Given the description of an element on the screen output the (x, y) to click on. 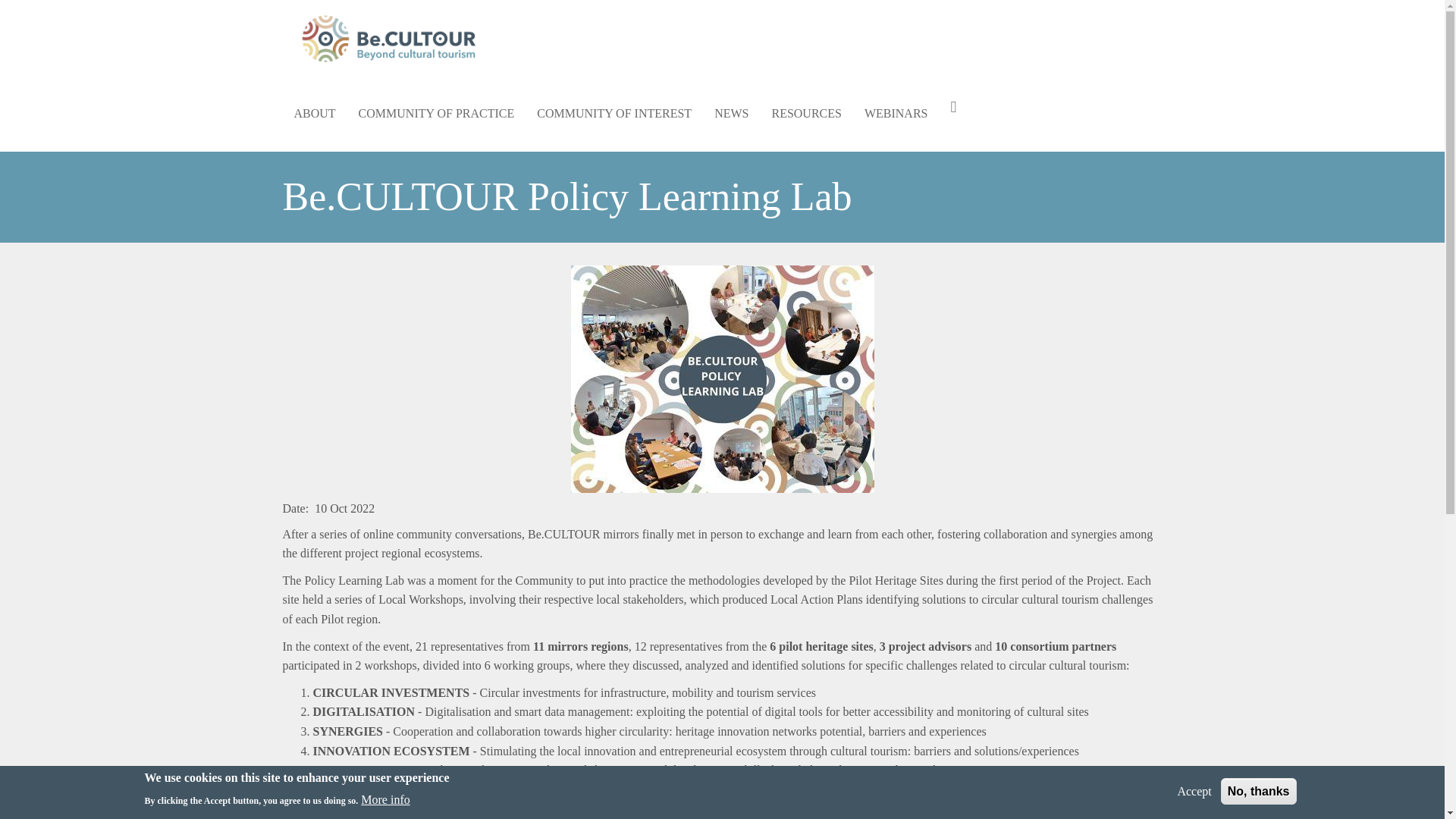
WEBINARS (896, 113)
More info (385, 799)
Home (393, 38)
RESOURCES (805, 113)
Webinars (896, 113)
COMMUNITY OF INTEREST (614, 113)
COMMUNITY OF PRACTICE (436, 113)
